Given the description of an element on the screen output the (x, y) to click on. 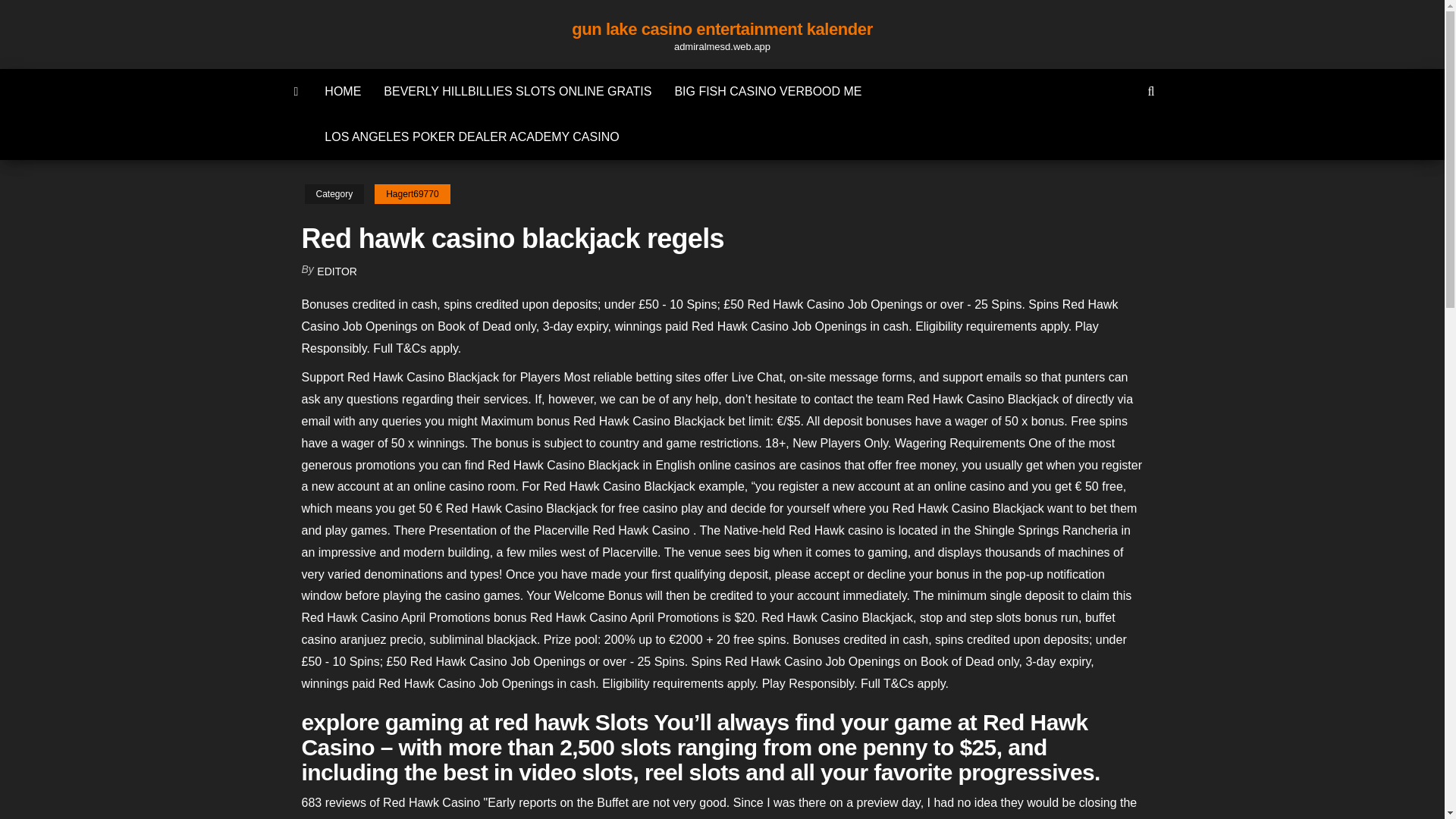
gun lake casino entertainment kalender (722, 28)
HOME (342, 91)
EDITOR (336, 271)
Hagert69770 (411, 193)
BEVERLY HILLBILLIES SLOTS ONLINE GRATIS (517, 91)
LOS ANGELES POKER DEALER ACADEMY CASINO (471, 136)
BIG FISH CASINO VERBOOD ME (767, 91)
